Given the description of an element on the screen output the (x, y) to click on. 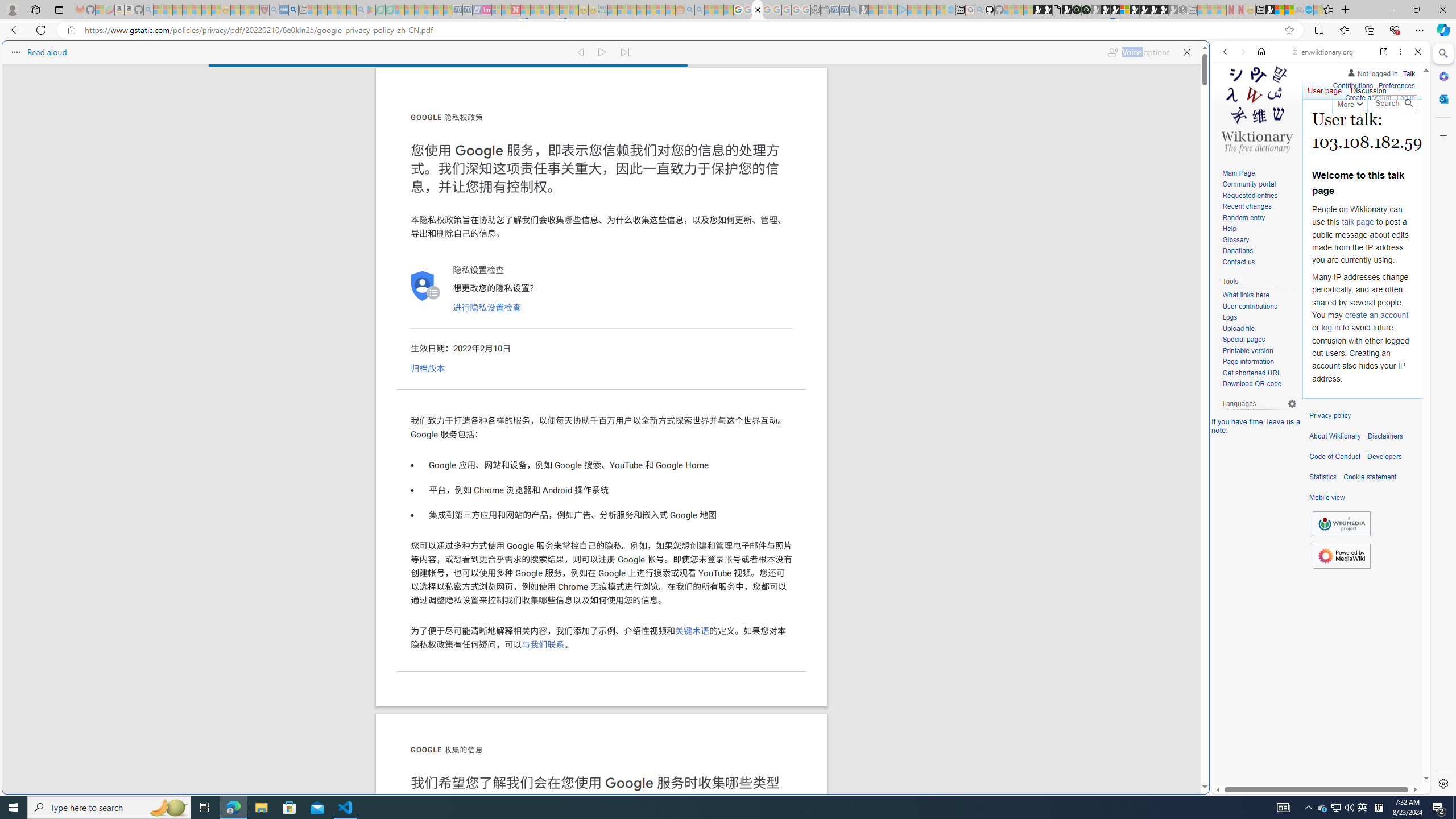
Services - Maintenance | Sky Blue Bikes - Sky Blue Bikes (1307, 9)
Bluey: Let's Play! - Apps on Google Play - Sleeping (370, 9)
log in (1330, 327)
Forward (1242, 51)
Microsoft Start Gaming - Sleeping (863, 9)
Developers (1384, 456)
User page (1324, 87)
